Given the description of an element on the screen output the (x, y) to click on. 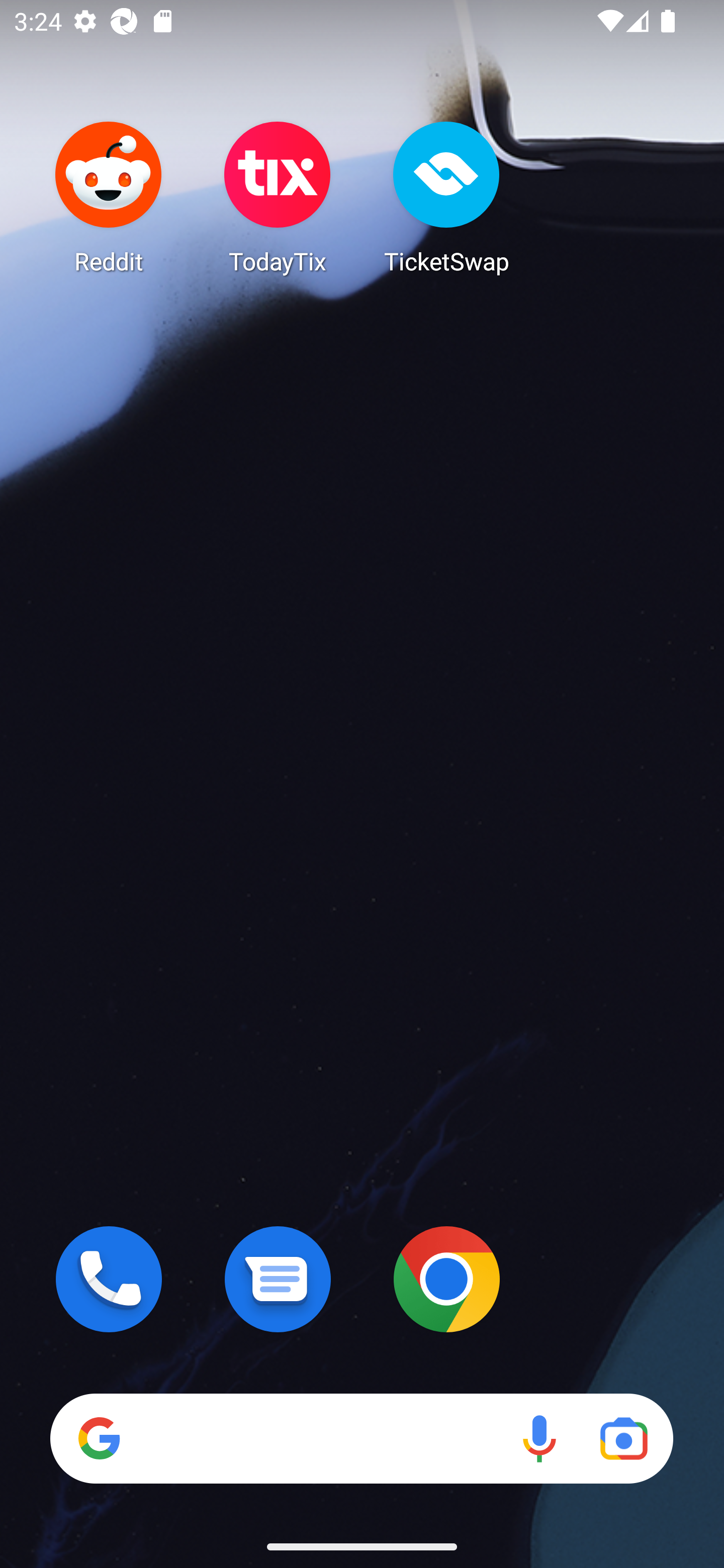
Reddit (108, 196)
TodayTix (277, 196)
TicketSwap (445, 196)
Phone (108, 1279)
Messages (277, 1279)
Chrome (446, 1279)
Voice search (539, 1438)
Google Lens (623, 1438)
